Given the description of an element on the screen output the (x, y) to click on. 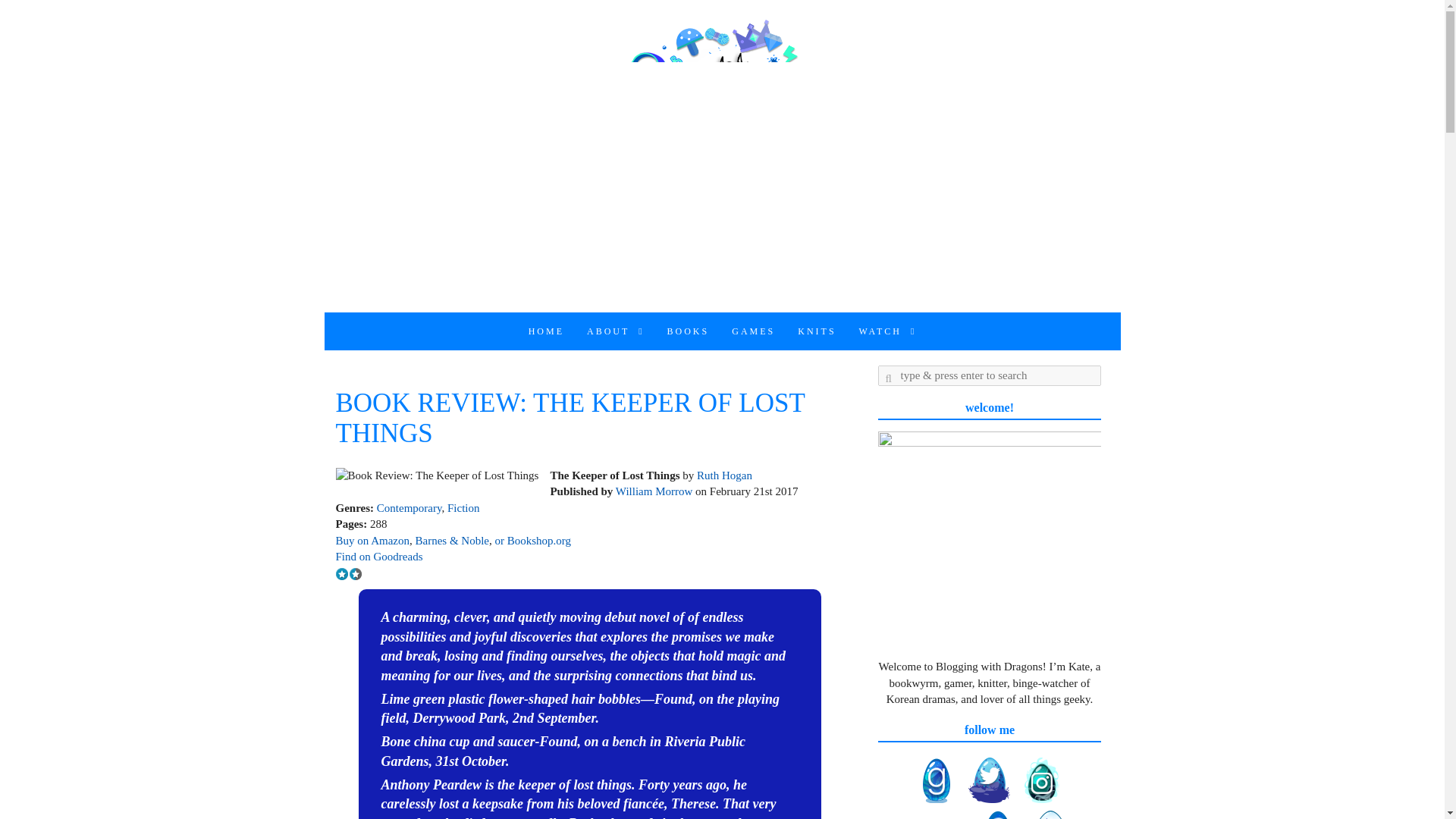
or Bookshop.org (531, 540)
Ruth Hogan (724, 475)
WATCH   (887, 331)
William Morrow (654, 491)
Contemporary (409, 508)
Book Review: The Keeper of Lost Things (436, 475)
GAMES (753, 331)
Fiction (463, 508)
Books (688, 331)
Find on Goodreads (378, 556)
HOME (545, 331)
Buy on Amazon (371, 540)
ABOUT   (615, 331)
BOOKS (688, 331)
KNITS (816, 331)
